Given the description of an element on the screen output the (x, y) to click on. 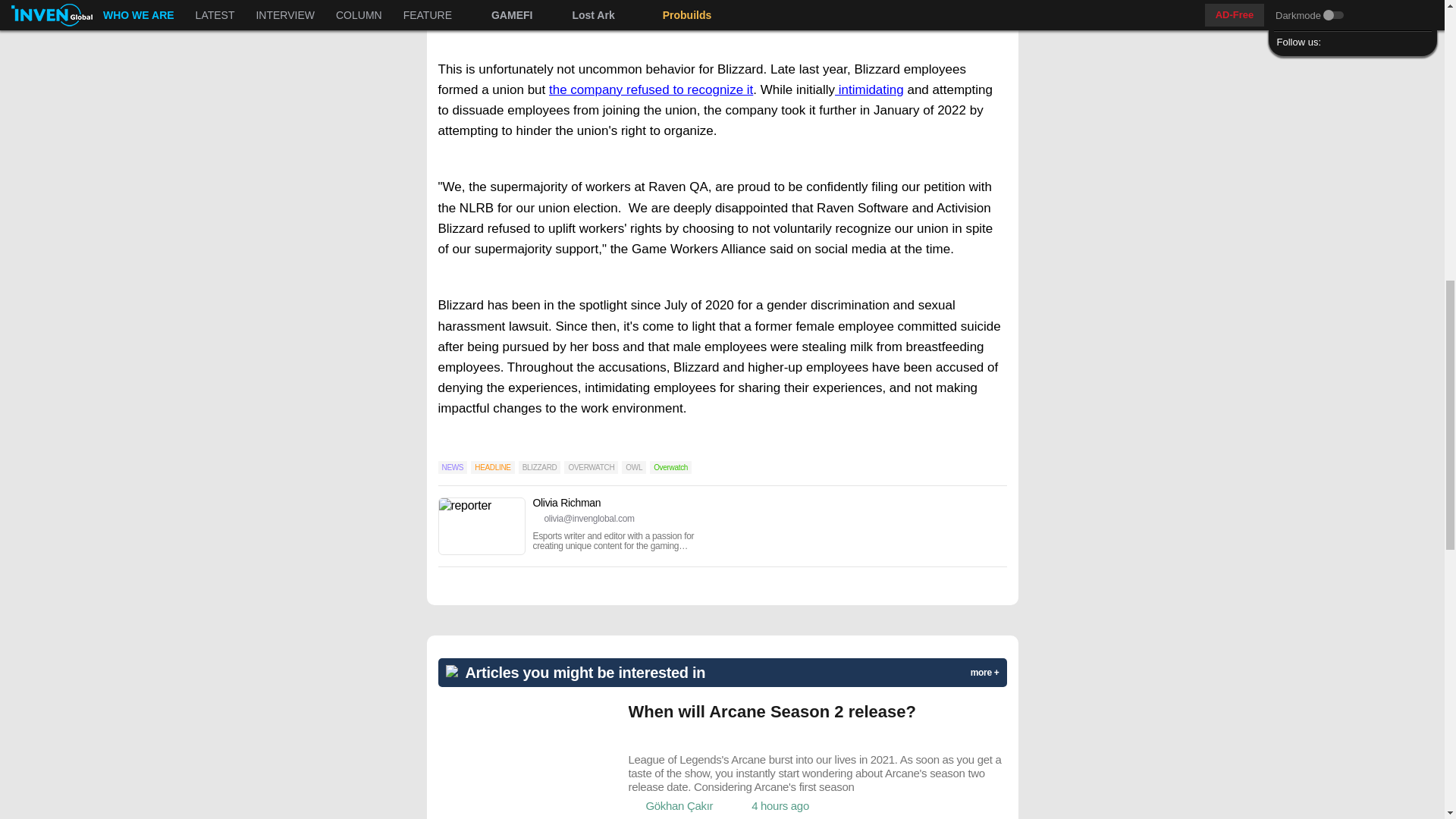
intimidating (869, 89)
the company refused to recognize it (650, 89)
NEWS (452, 467)
